Given the description of an element on the screen output the (x, y) to click on. 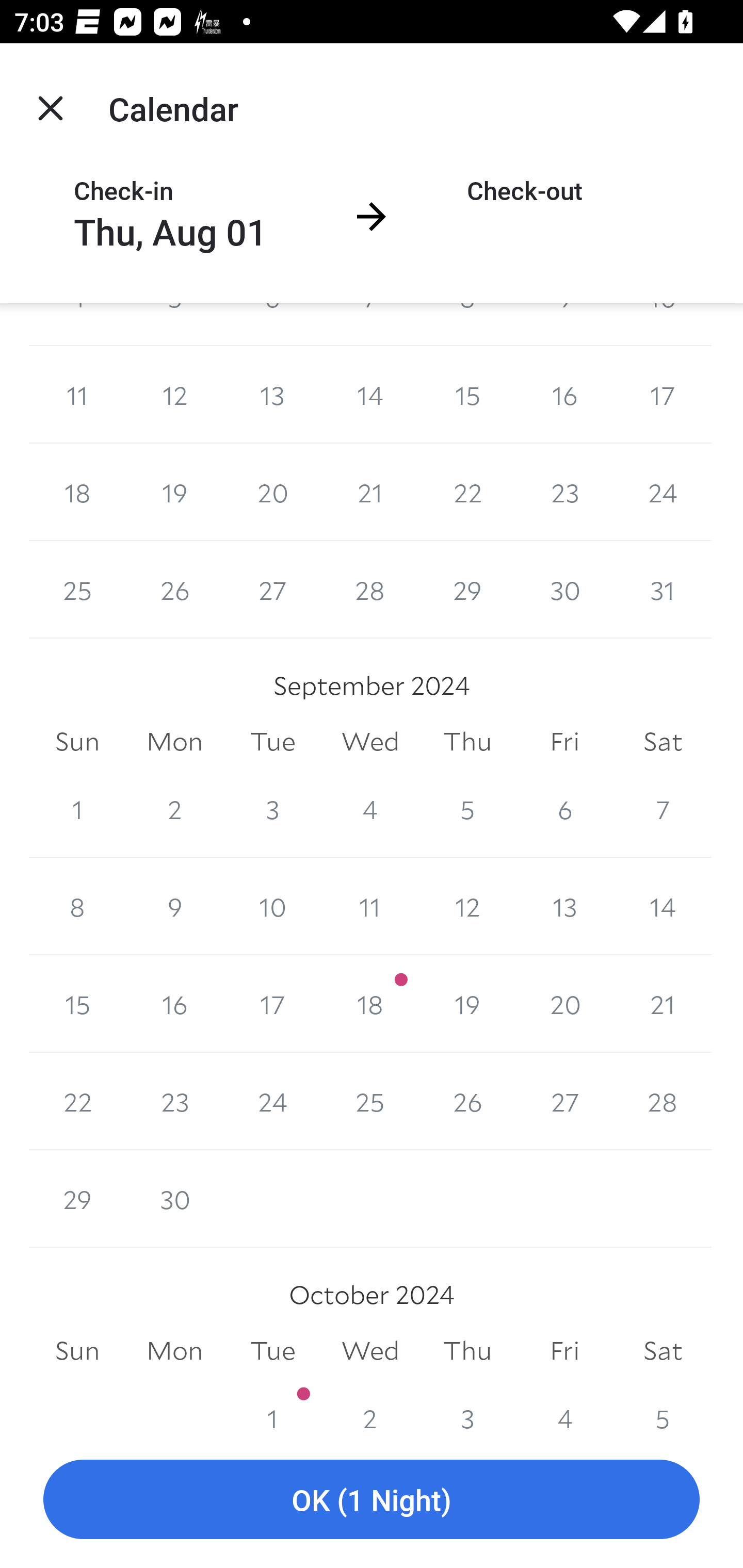
11 11 August 2024 (77, 394)
12 12 August 2024 (174, 394)
13 13 August 2024 (272, 394)
14 14 August 2024 (370, 394)
15 15 August 2024 (467, 394)
16 16 August 2024 (564, 394)
17 17 August 2024 (662, 394)
18 18 August 2024 (77, 491)
19 19 August 2024 (174, 491)
20 20 August 2024 (272, 491)
21 21 August 2024 (370, 491)
22 22 August 2024 (467, 491)
23 23 August 2024 (564, 491)
24 24 August 2024 (662, 491)
25 25 August 2024 (77, 589)
26 26 August 2024 (174, 589)
27 27 August 2024 (272, 589)
28 28 August 2024 (370, 589)
29 29 August 2024 (467, 589)
30 30 August 2024 (564, 589)
31 31 August 2024 (662, 589)
Sun (77, 741)
Mon (174, 741)
Tue (272, 741)
Wed (370, 741)
Thu (467, 741)
Fri (564, 741)
Sat (662, 741)
1 1 September 2024 (77, 808)
2 2 September 2024 (174, 808)
3 3 September 2024 (272, 808)
4 4 September 2024 (370, 808)
5 5 September 2024 (467, 808)
6 6 September 2024 (564, 808)
7 7 September 2024 (662, 808)
8 8 September 2024 (77, 905)
9 9 September 2024 (174, 905)
10 10 September 2024 (272, 905)
11 11 September 2024 (370, 905)
12 12 September 2024 (467, 905)
13 13 September 2024 (564, 905)
14 14 September 2024 (662, 905)
15 15 September 2024 (77, 1003)
16 16 September 2024 (174, 1003)
17 17 September 2024 (272, 1003)
18 18 September 2024 (370, 1003)
19 19 September 2024 (467, 1003)
20 20 September 2024 (564, 1003)
21 21 September 2024 (662, 1003)
